Given the description of an element on the screen output the (x, y) to click on. 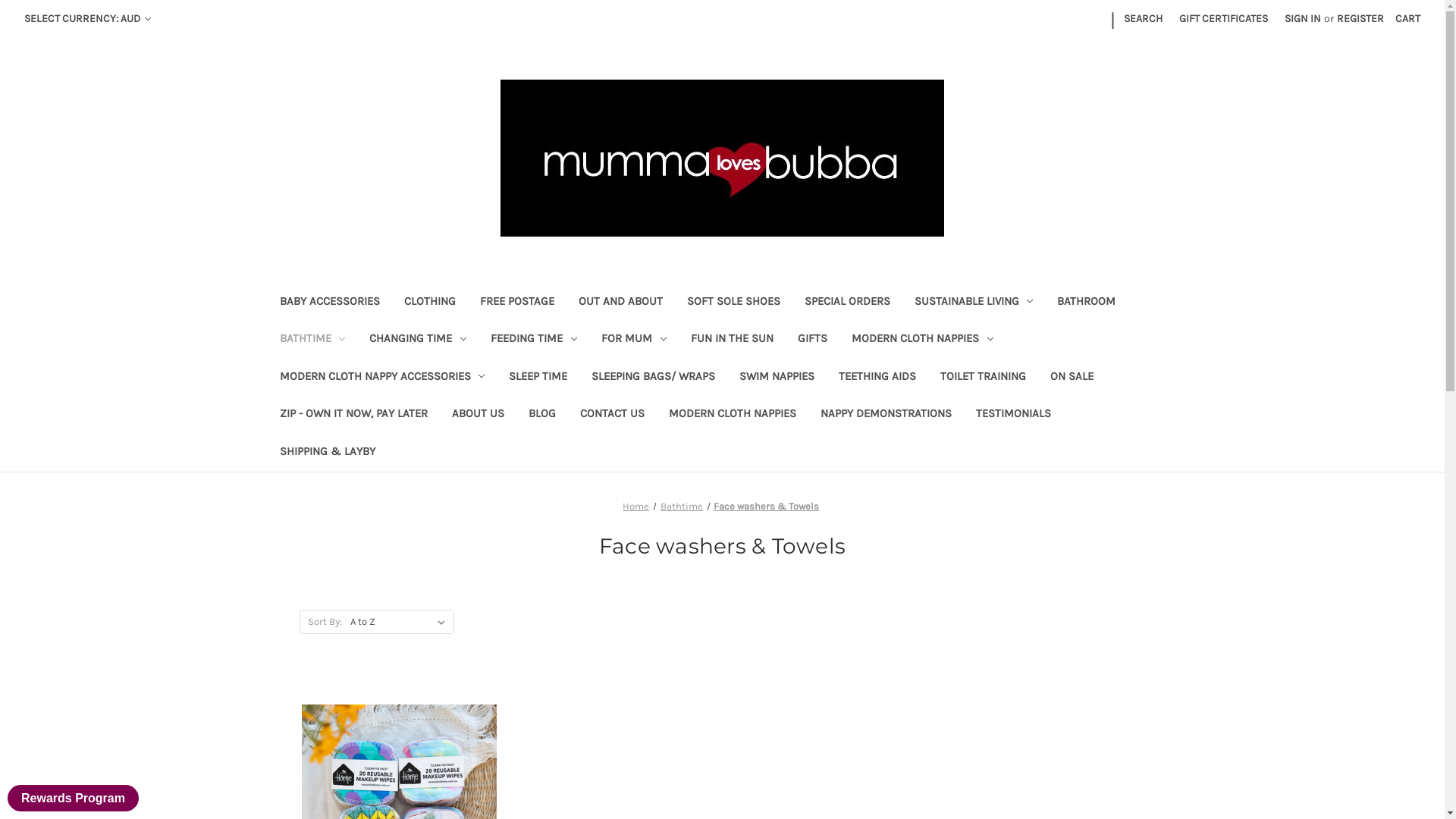
GIFTS Element type: text (812, 339)
FEEDING TIME Element type: text (533, 339)
SWIM NAPPIES Element type: text (776, 377)
TOILET TRAINING Element type: text (983, 377)
SLEEP TIME Element type: text (537, 377)
SOFT SOLE SHOES Element type: text (733, 302)
SIGN IN Element type: text (1302, 18)
BATHTIME Element type: text (311, 339)
CART Element type: text (1407, 18)
SELECT CURRENCY: AUD Element type: text (87, 18)
CHANGING TIME Element type: text (417, 339)
FOR MUM Element type: text (633, 339)
BLOG Element type: text (541, 414)
FUN IN THE SUN Element type: text (731, 339)
REGISTER Element type: text (1360, 18)
Bathtime Element type: text (681, 505)
BATHROOM Element type: text (1085, 302)
SHIPPING & LAYBY Element type: text (326, 452)
TESTIMONIALS Element type: text (1012, 414)
MODERN CLOTH NAPPIES Element type: text (922, 339)
Home Element type: text (635, 505)
BABY ACCESSORIES Element type: text (328, 302)
SPECIAL ORDERS Element type: text (846, 302)
Mumma Loves Bubba Element type: hover (722, 157)
ZIP - OWN IT NOW, PAY LATER Element type: text (352, 414)
GIFT CERTIFICATES Element type: text (1223, 18)
FREE POSTAGE Element type: text (516, 302)
MODERN CLOTH NAPPIES Element type: text (732, 414)
TEETHING AIDS Element type: text (877, 377)
ABOUT US Element type: text (477, 414)
SLEEPING BAGS/ WRAPS Element type: text (653, 377)
Rewards Program Element type: text (72, 797)
Face washers & Towels Element type: text (766, 505)
SUSTAINABLE LIVING Element type: text (973, 302)
MODERN CLOTH NAPPY ACCESSORIES Element type: text (381, 377)
ON SALE Element type: text (1071, 377)
CONTACT US Element type: text (611, 414)
CLOTHING Element type: text (429, 302)
SEARCH Element type: text (1142, 18)
OUT AND ABOUT Element type: text (619, 302)
NAPPY DEMONSTRATIONS Element type: text (885, 414)
